Given the description of an element on the screen output the (x, y) to click on. 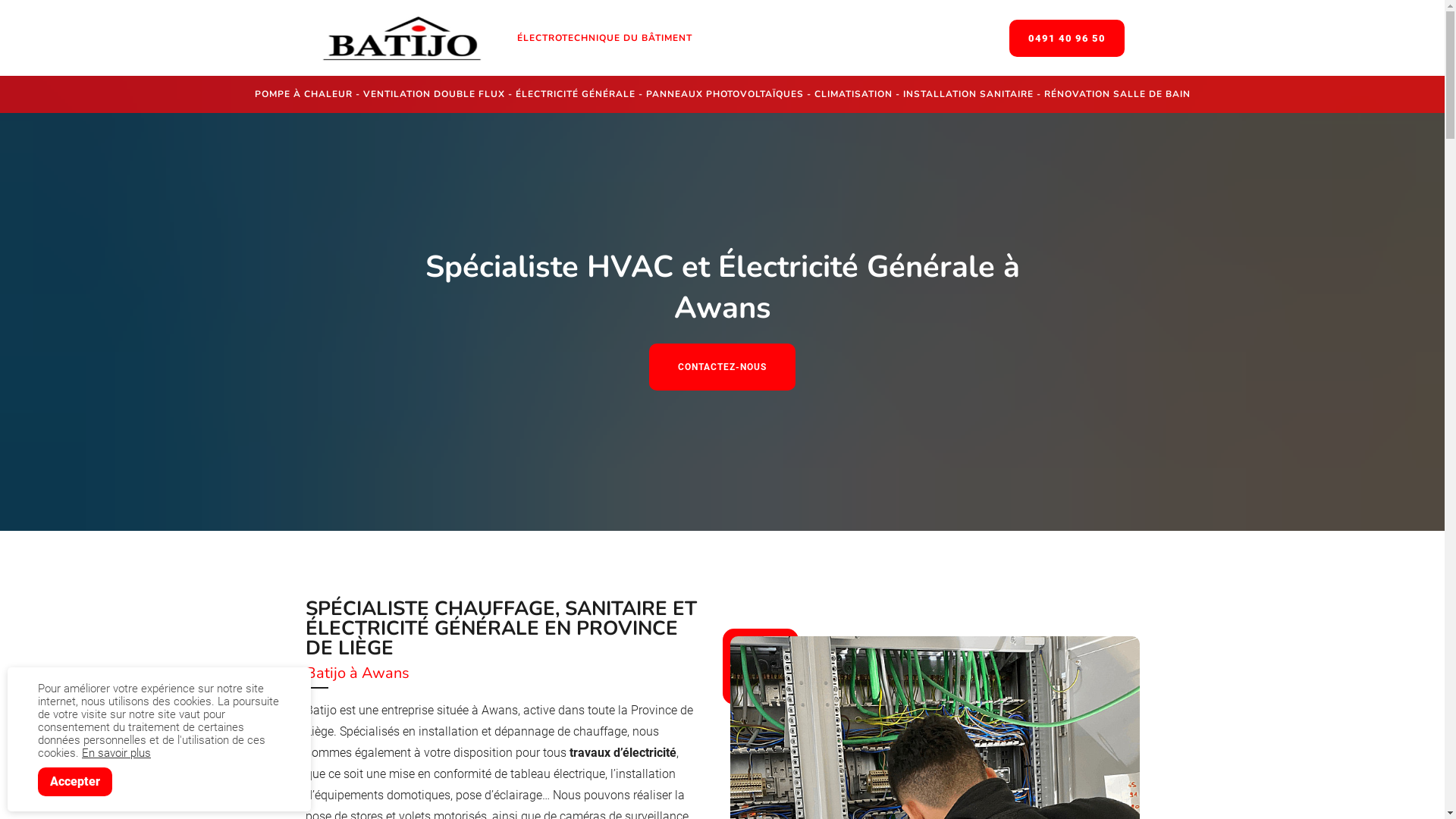
0491 40 96 50 Element type: text (1065, 37)
En savoir plus Element type: text (115, 752)
Accepter Element type: text (74, 781)
CONTACTEZ-NOUS Element type: text (722, 366)
